Given the description of an element on the screen output the (x, y) to click on. 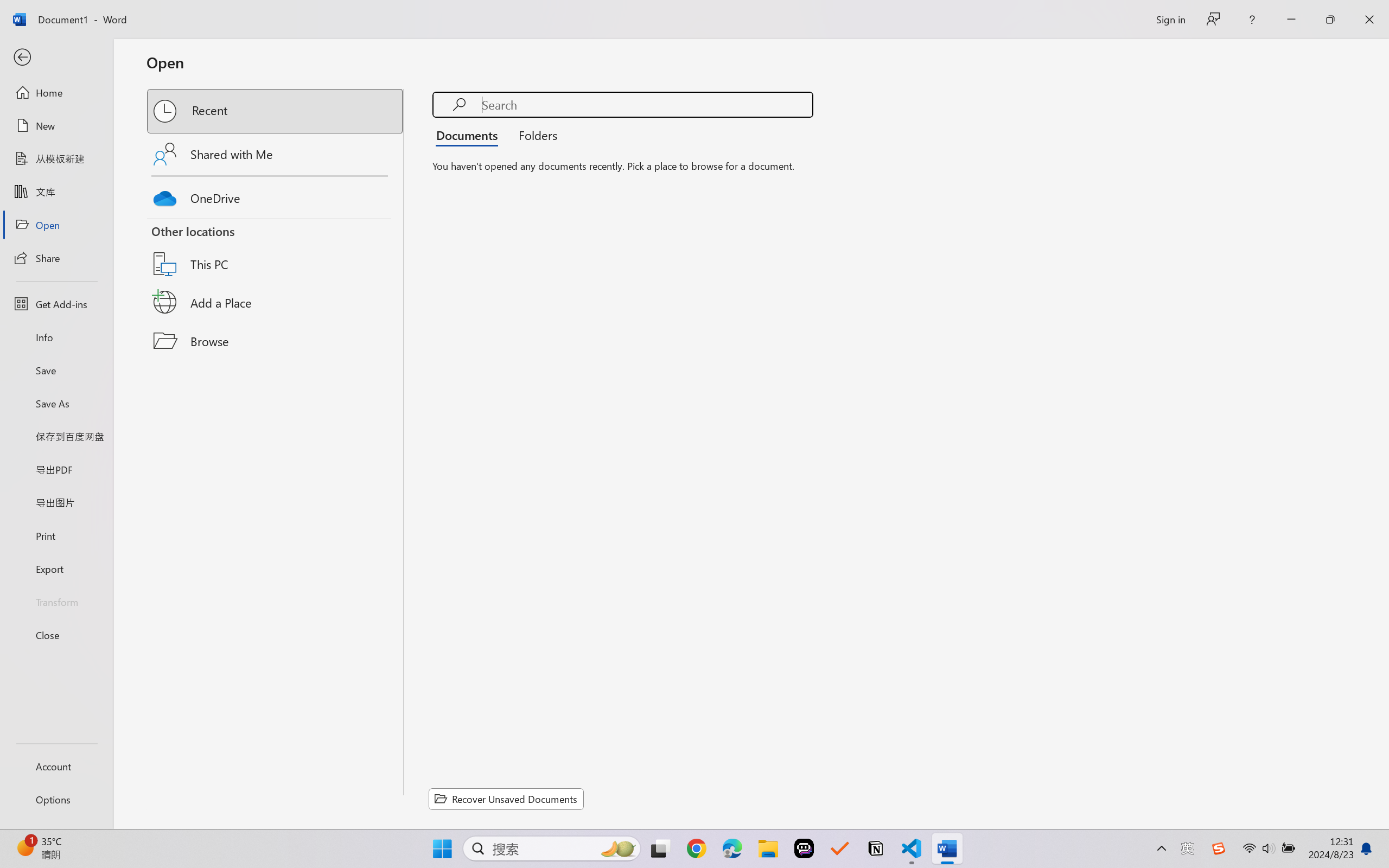
Export (56, 568)
Add a Place (275, 302)
Print (56, 535)
Get Add-ins (56, 303)
